Given the description of an element on the screen output the (x, y) to click on. 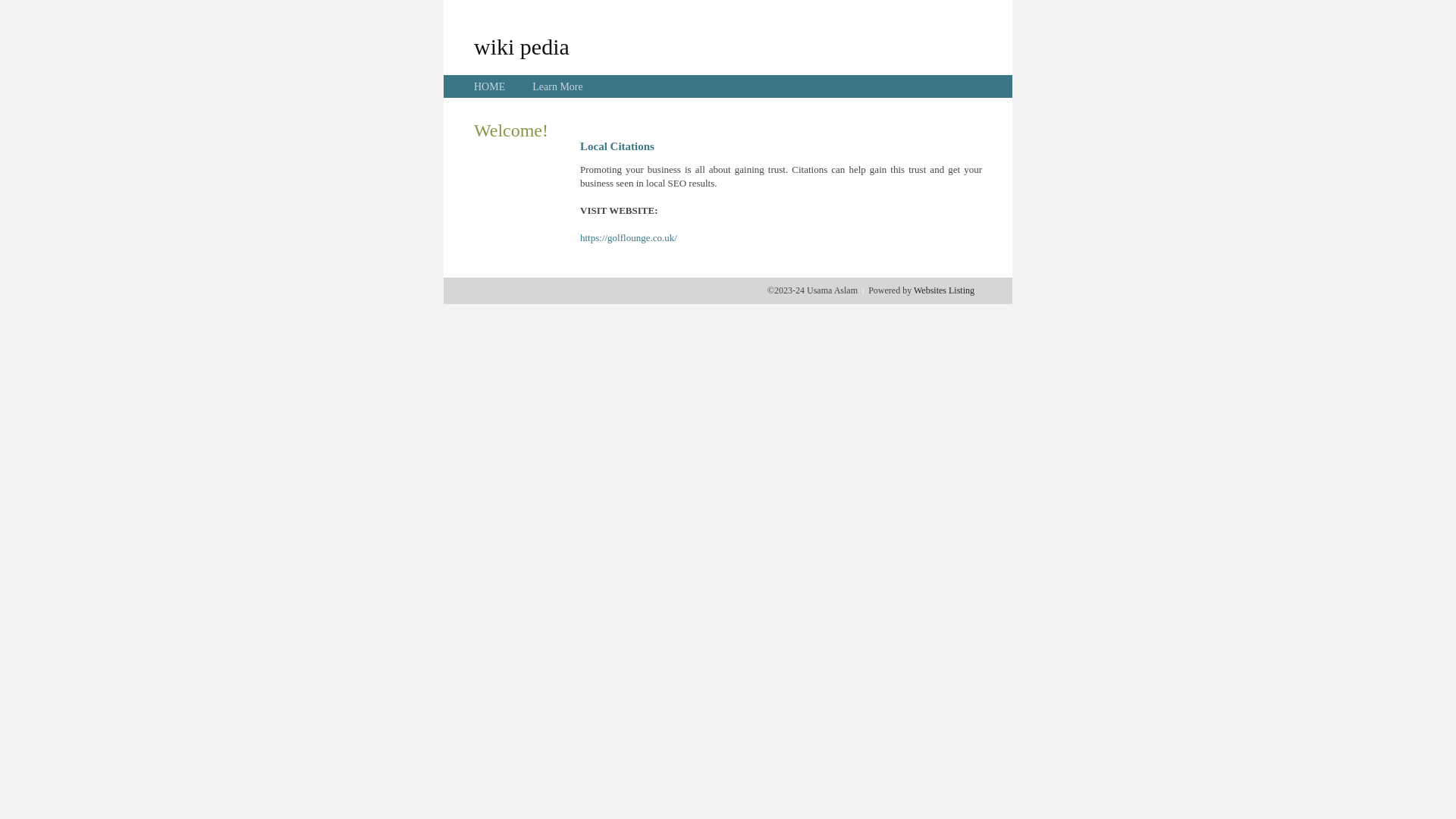
HOME Element type: text (489, 86)
Websites Listing Element type: text (943, 290)
Learn More Element type: text (557, 86)
wiki pedia Element type: text (521, 46)
https://golflounge.co.uk/ Element type: text (628, 237)
